Given the description of an element on the screen output the (x, y) to click on. 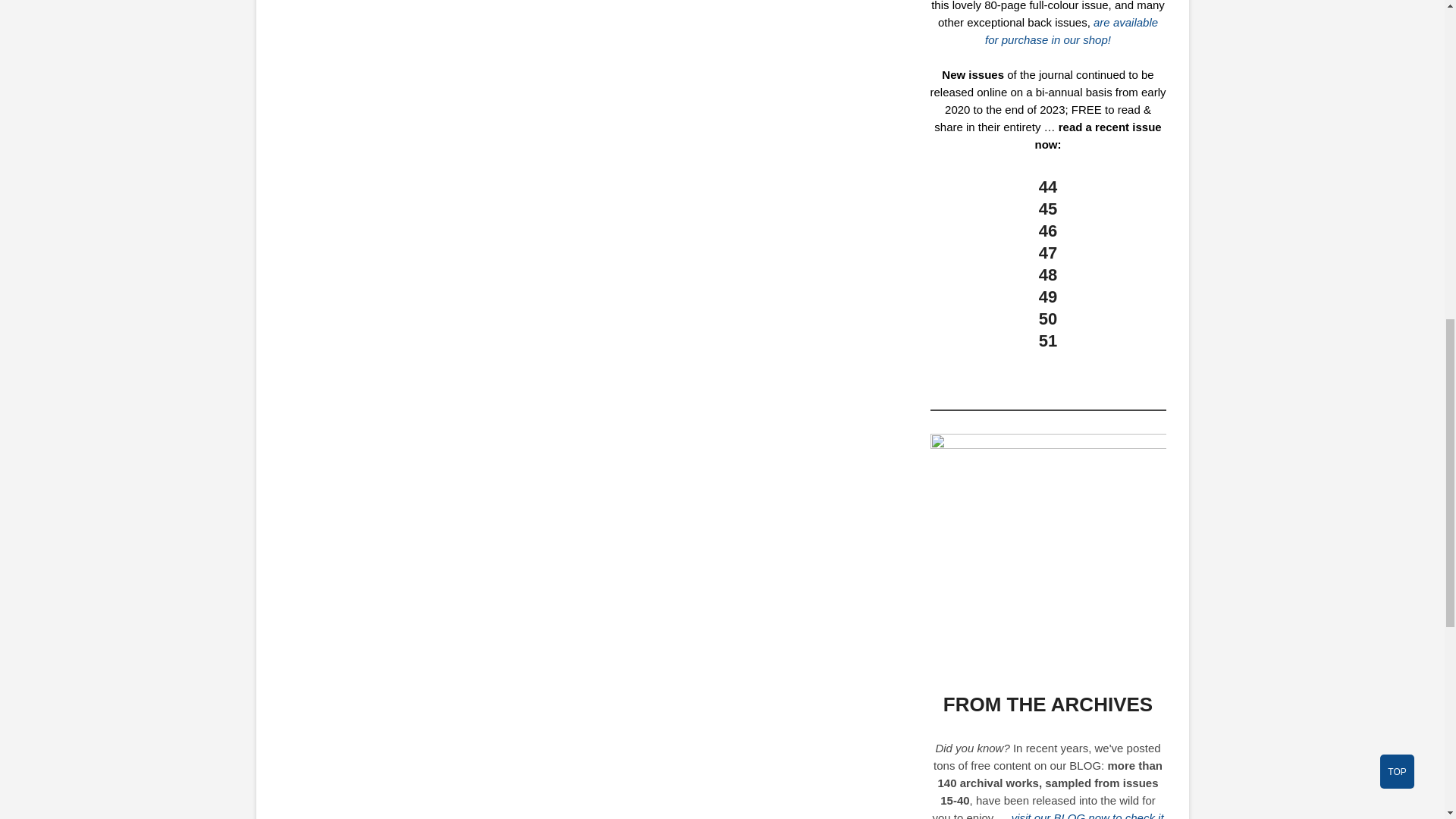
47 (1048, 252)
48 (1048, 274)
49 (1048, 296)
are available for purchase in our shop! (1071, 30)
44 (1048, 186)
50 (1048, 318)
46 (1048, 230)
45 (1048, 208)
51 (1048, 340)
